Given the description of an element on the screen output the (x, y) to click on. 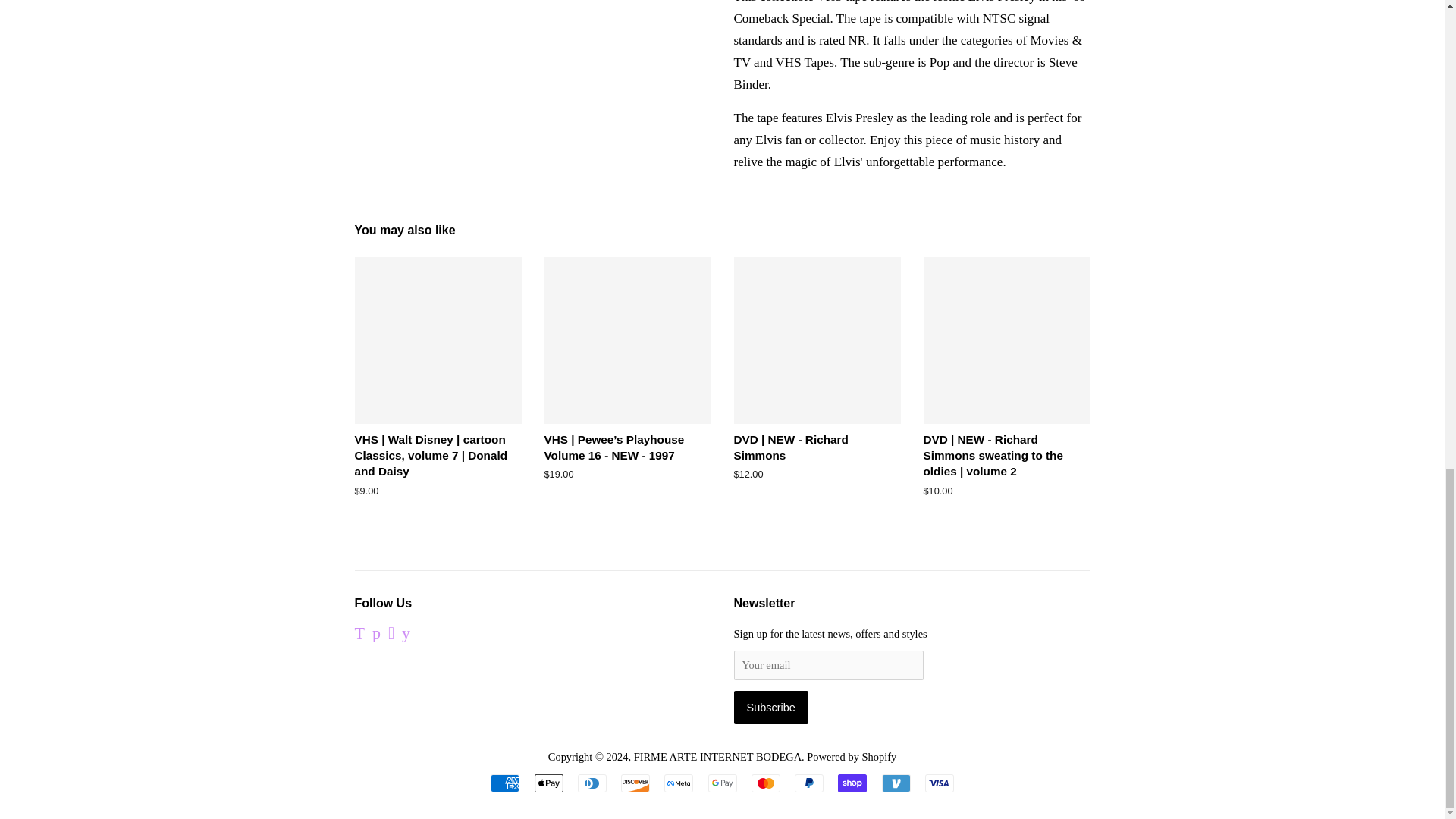
PayPal (809, 782)
Discover (635, 782)
Shop Pay (852, 782)
American Express (504, 782)
Subscribe (770, 707)
Google Pay (721, 782)
Mastercard (765, 782)
Apple Pay (548, 782)
Visa (938, 782)
Venmo (895, 782)
